Given the description of an element on the screen output the (x, y) to click on. 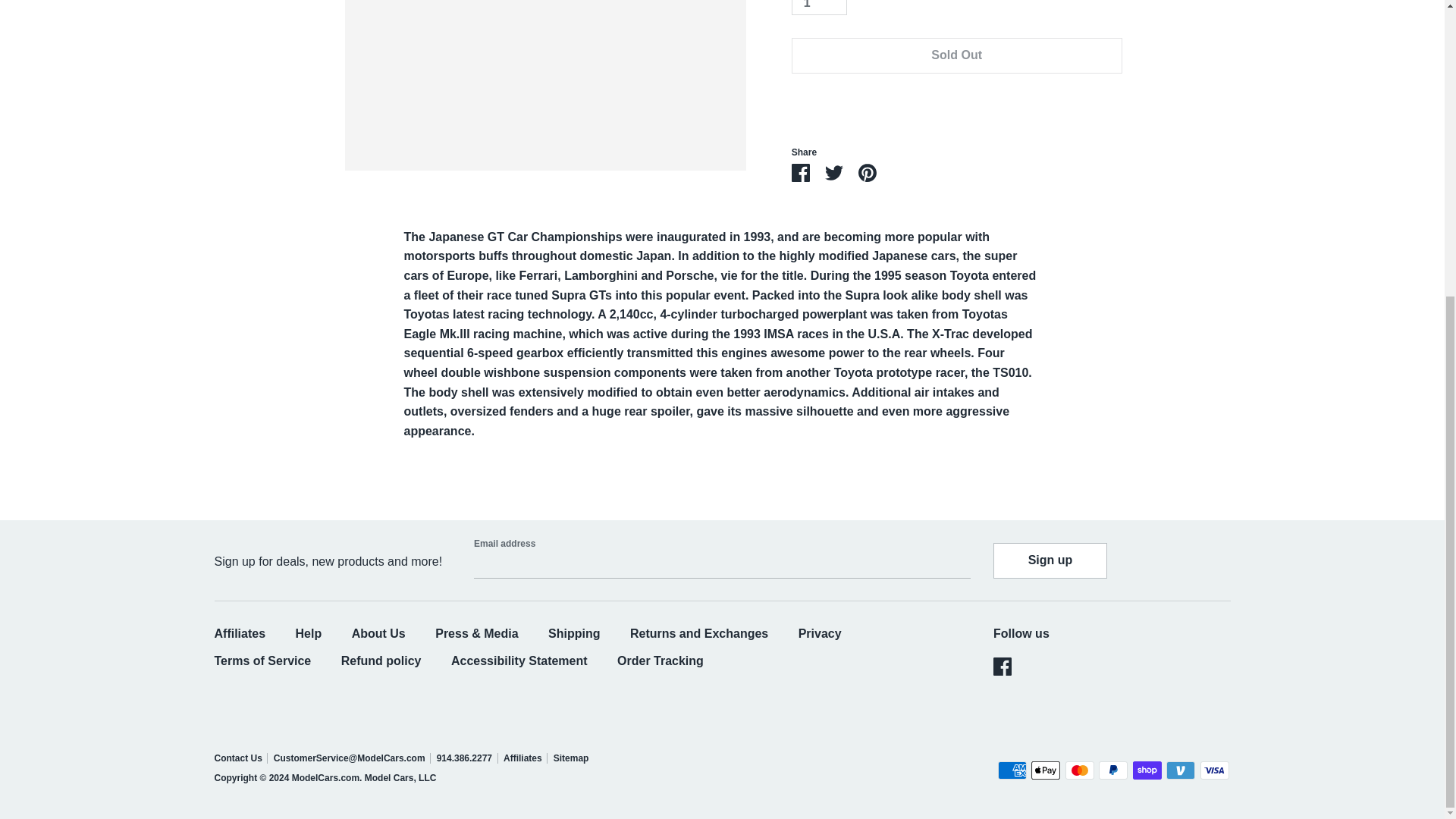
Shop Pay (1146, 770)
American Express (1011, 770)
Apple Pay (1044, 770)
Mastercard (1079, 770)
PayPal (1112, 770)
